Given the description of an element on the screen output the (x, y) to click on. 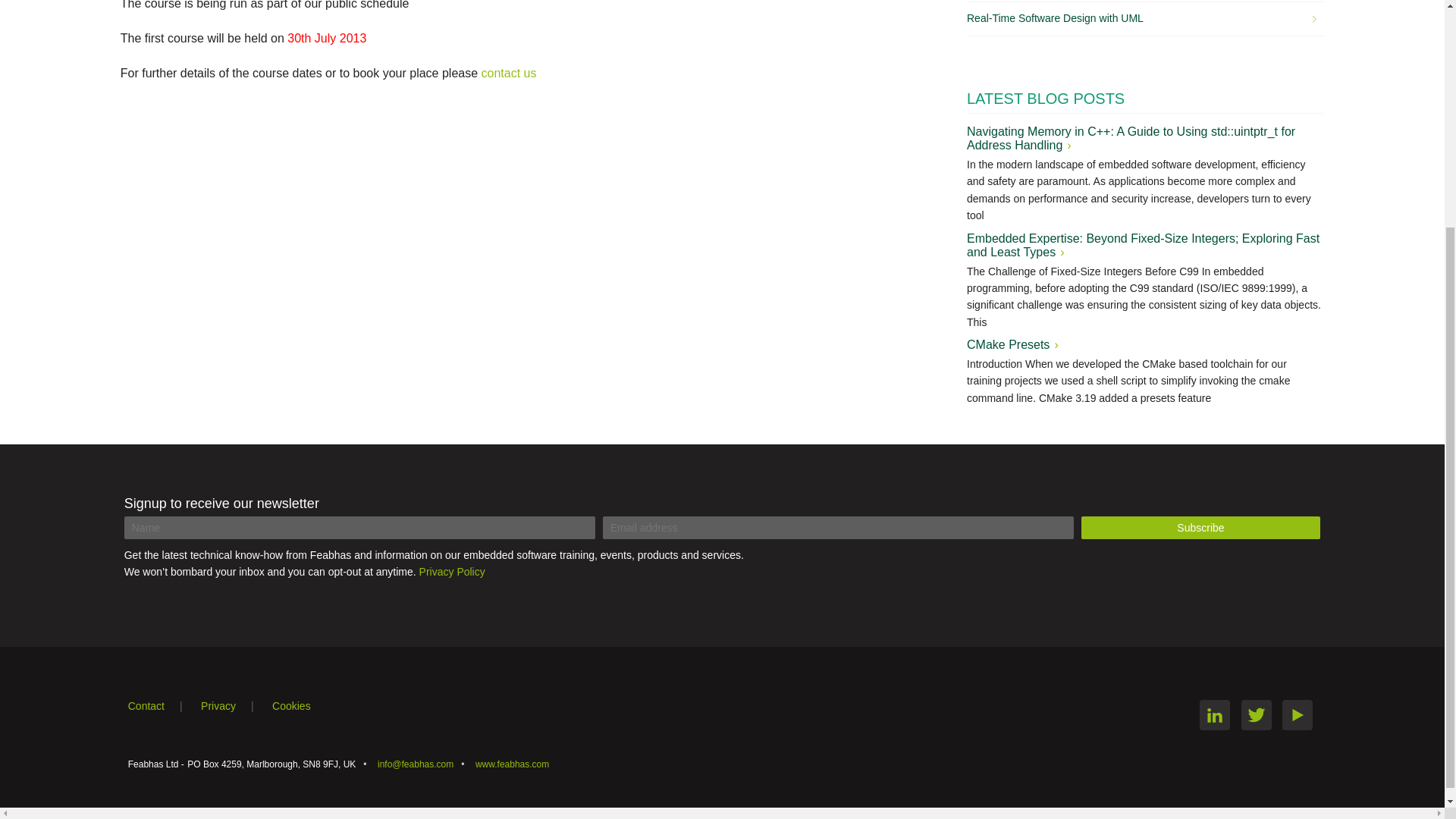
Our use of cookies (299, 705)
Youtube (1297, 715)
Subscribe (1200, 527)
30th July 2013 (326, 38)
See the Feabhas Privacy Policy (234, 705)
contact us (509, 72)
Subscribe (1200, 527)
Real-Time Software Design with UML (1141, 18)
CMake Presets (1012, 344)
